Given the description of an element on the screen output the (x, y) to click on. 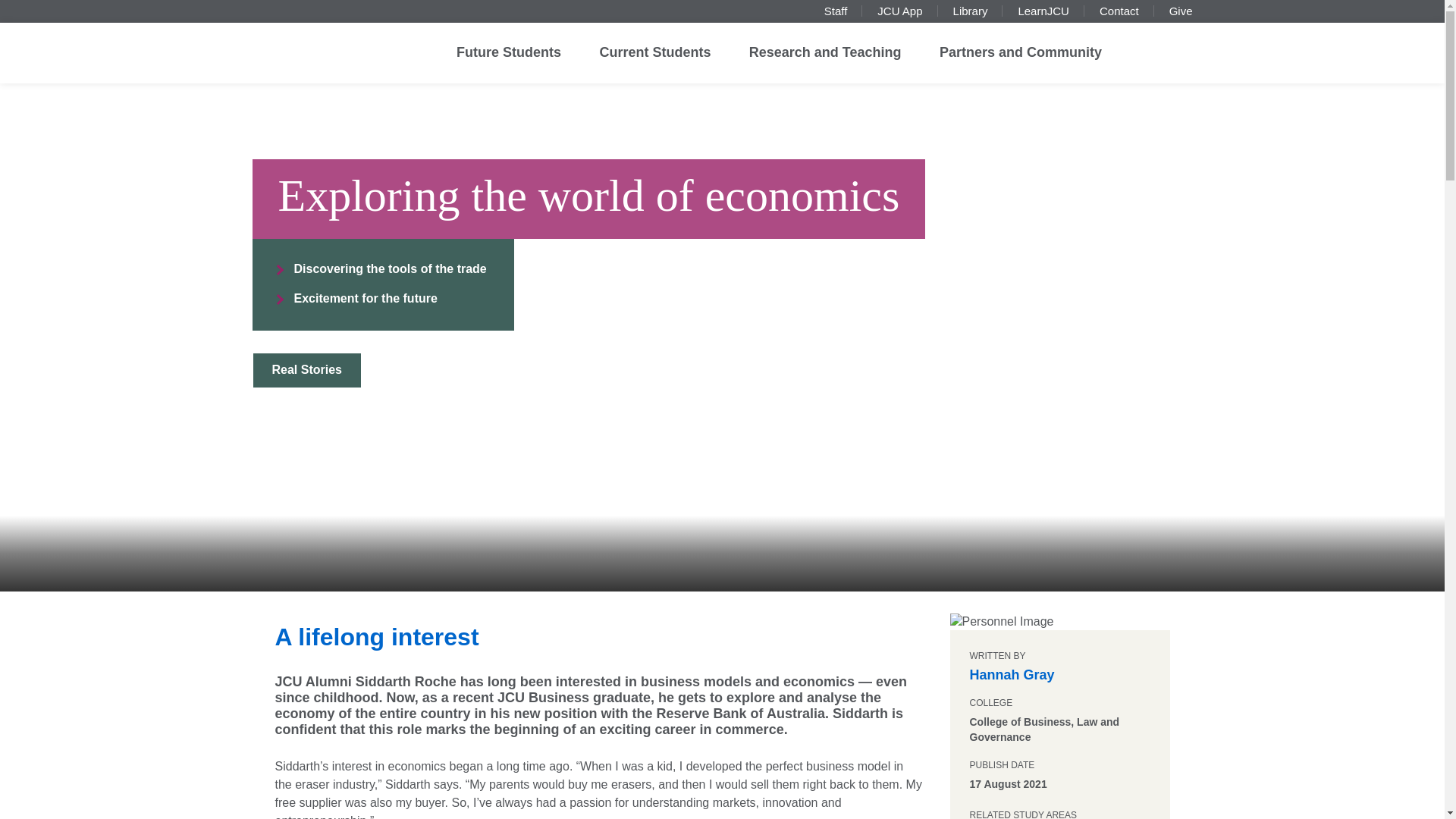
Current Students (654, 52)
Give (1180, 10)
JCU App (899, 10)
Library (970, 10)
Contact (1118, 10)
Future Students (508, 52)
LearnJCU (1042, 10)
Staff (835, 10)
James Cook University Home (319, 49)
